Given the description of an element on the screen output the (x, y) to click on. 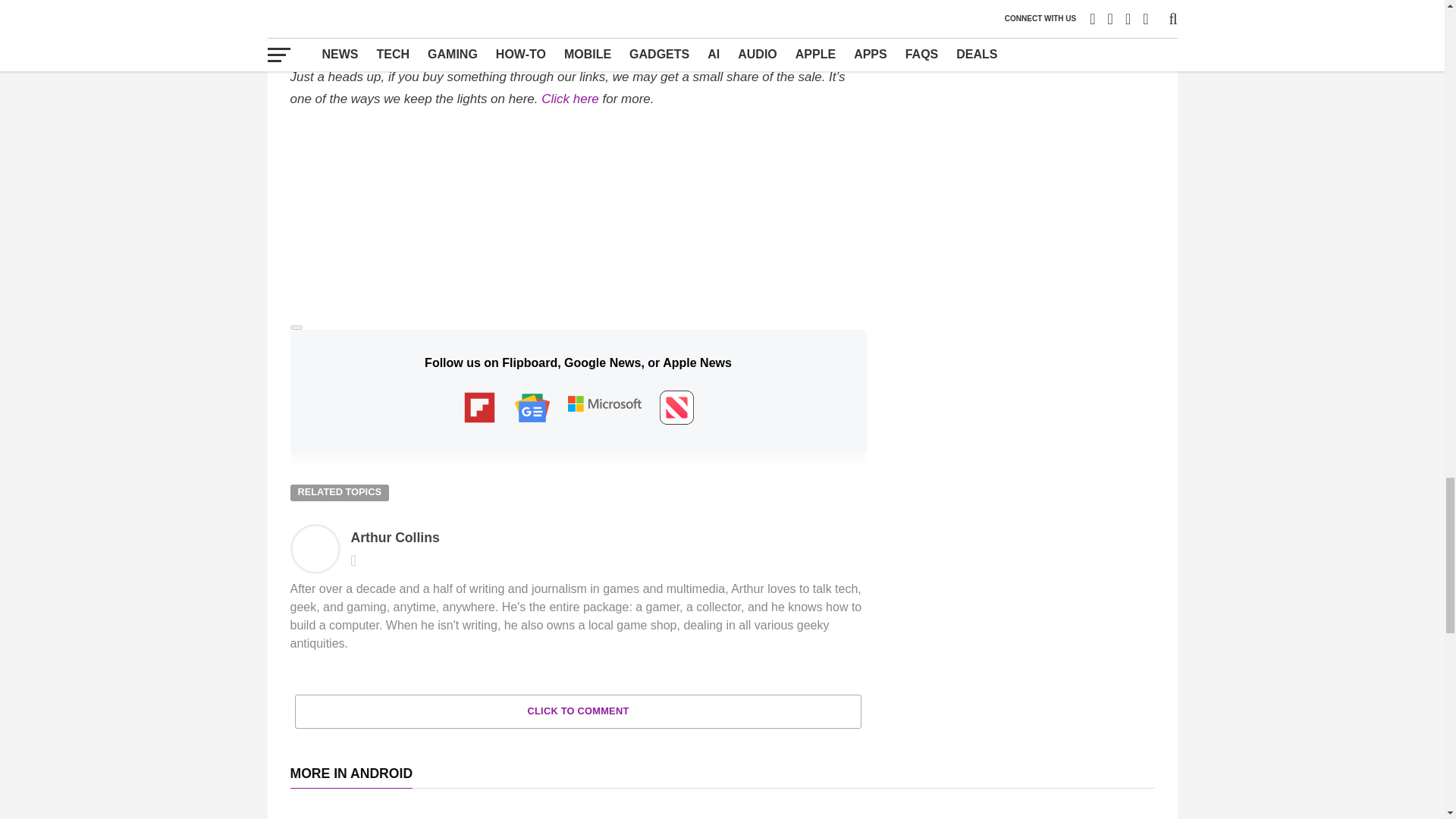
Posts by Arthur Collins (394, 537)
